Given the description of an element on the screen output the (x, y) to click on. 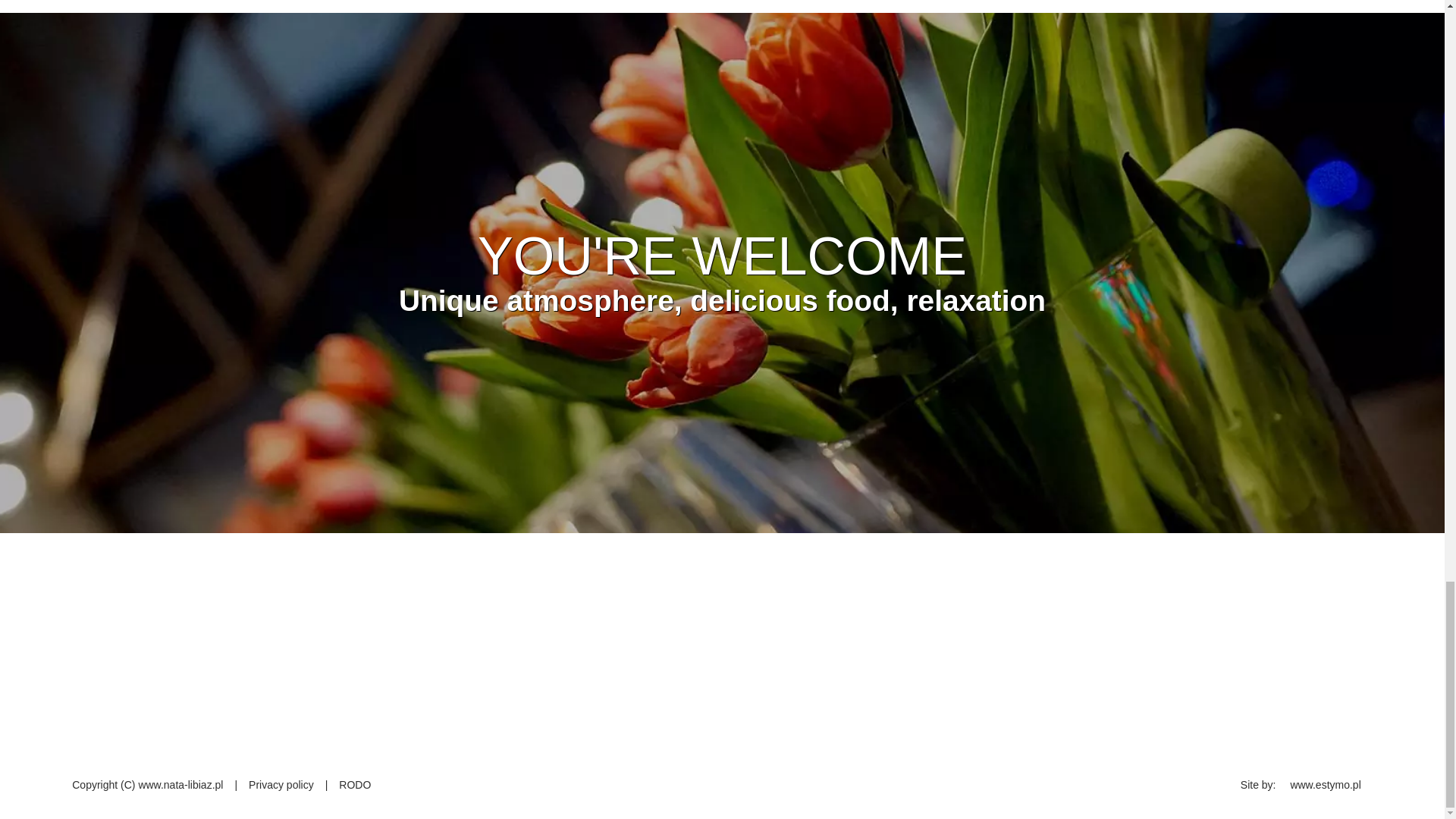
Kosmiczne strony internetowe (1324, 784)
RODO (355, 784)
www.estymo.pl (1324, 784)
Privacy policy (281, 784)
